Given the description of an element on the screen output the (x, y) to click on. 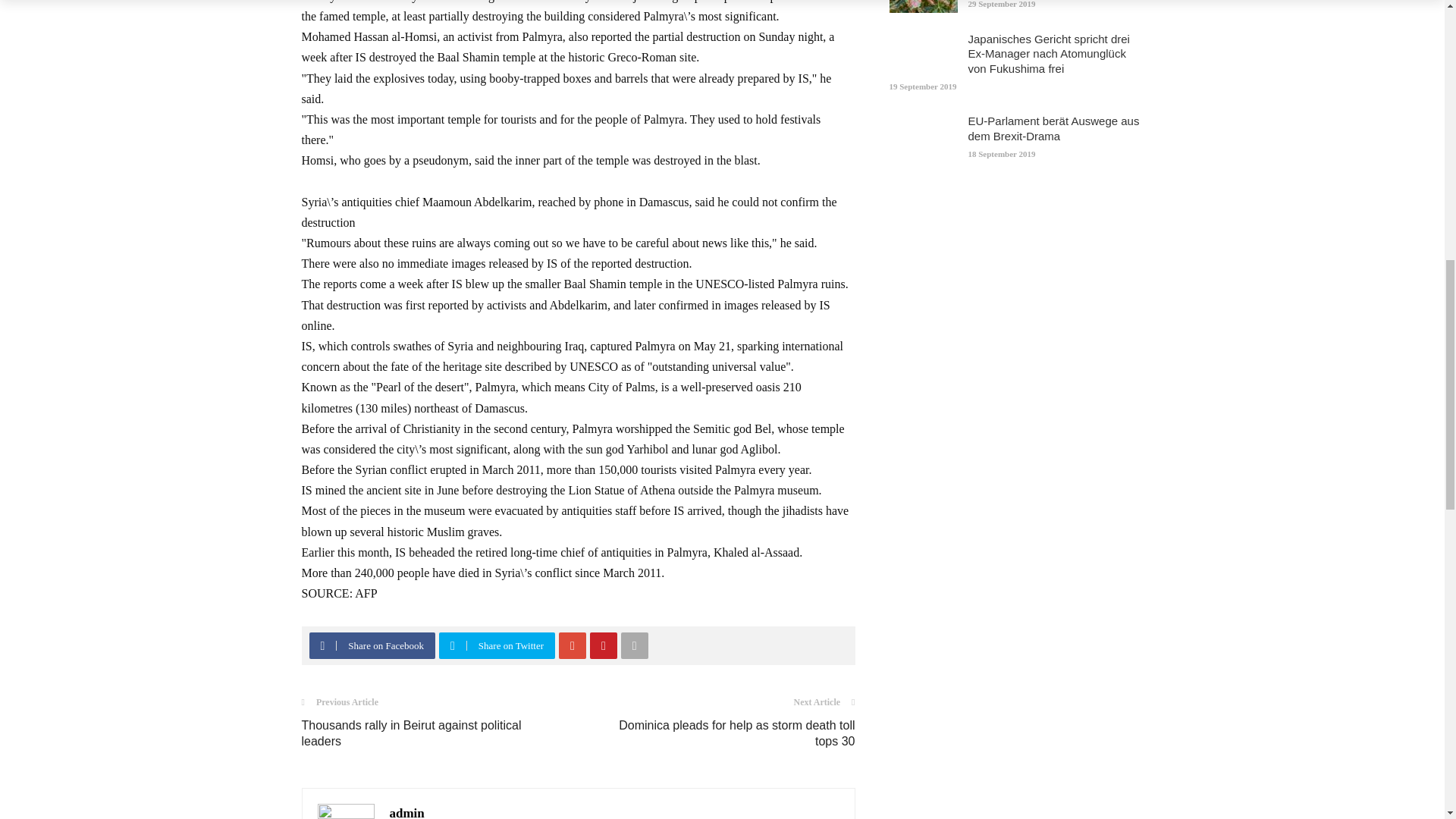
Facebook (322, 645)
Pinterest (603, 645)
Google Plus (572, 645)
Twitter (451, 645)
